Given the description of an element on the screen output the (x, y) to click on. 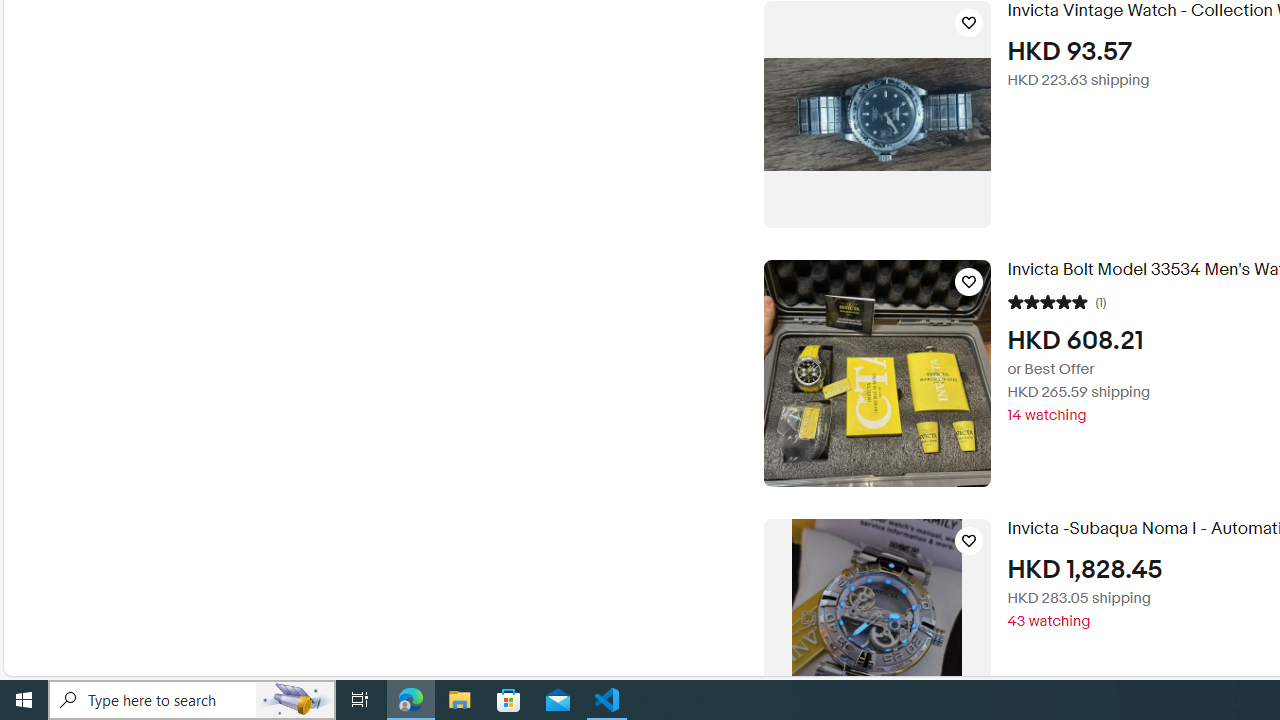
5 out of 5 stars (1047, 300)
